Given the description of an element on the screen output the (x, y) to click on. 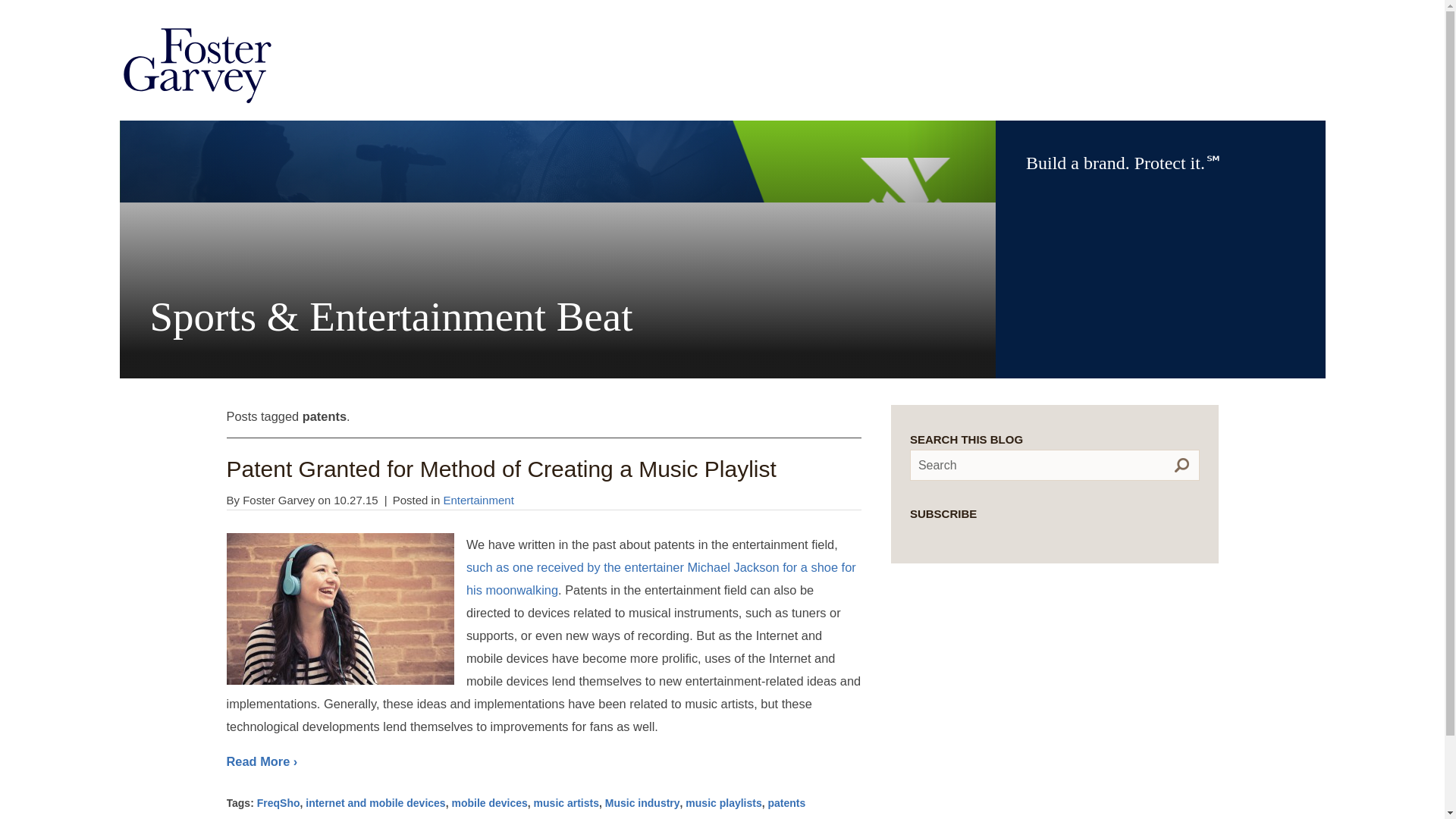
Entertainment (477, 499)
internet and mobile devices (375, 802)
Patent Granted for Method of Creating a Music Playlist (500, 468)
music artists (566, 802)
mobile devices (489, 802)
FreqSho (278, 802)
patents (787, 802)
music playlists (723, 802)
Music industry (642, 802)
